Given the description of an element on the screen output the (x, y) to click on. 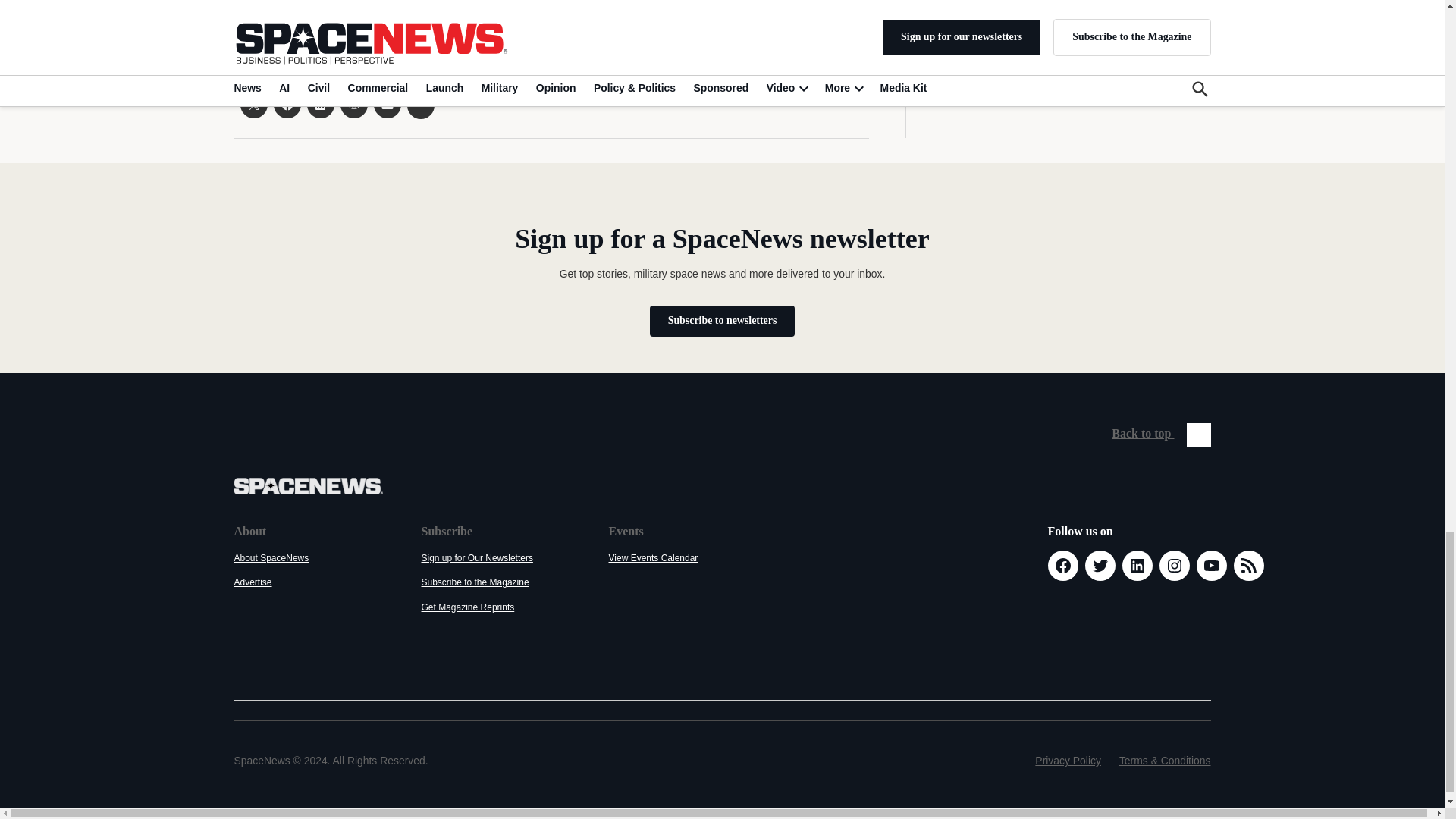
Click to share on X (253, 103)
Click to share on Facebook (286, 103)
Click to share on LinkedIn (319, 103)
Click to share on Clipboard (419, 104)
Click to share on Reddit (352, 103)
Click to email a link to a friend (386, 103)
